Given the description of an element on the screen output the (x, y) to click on. 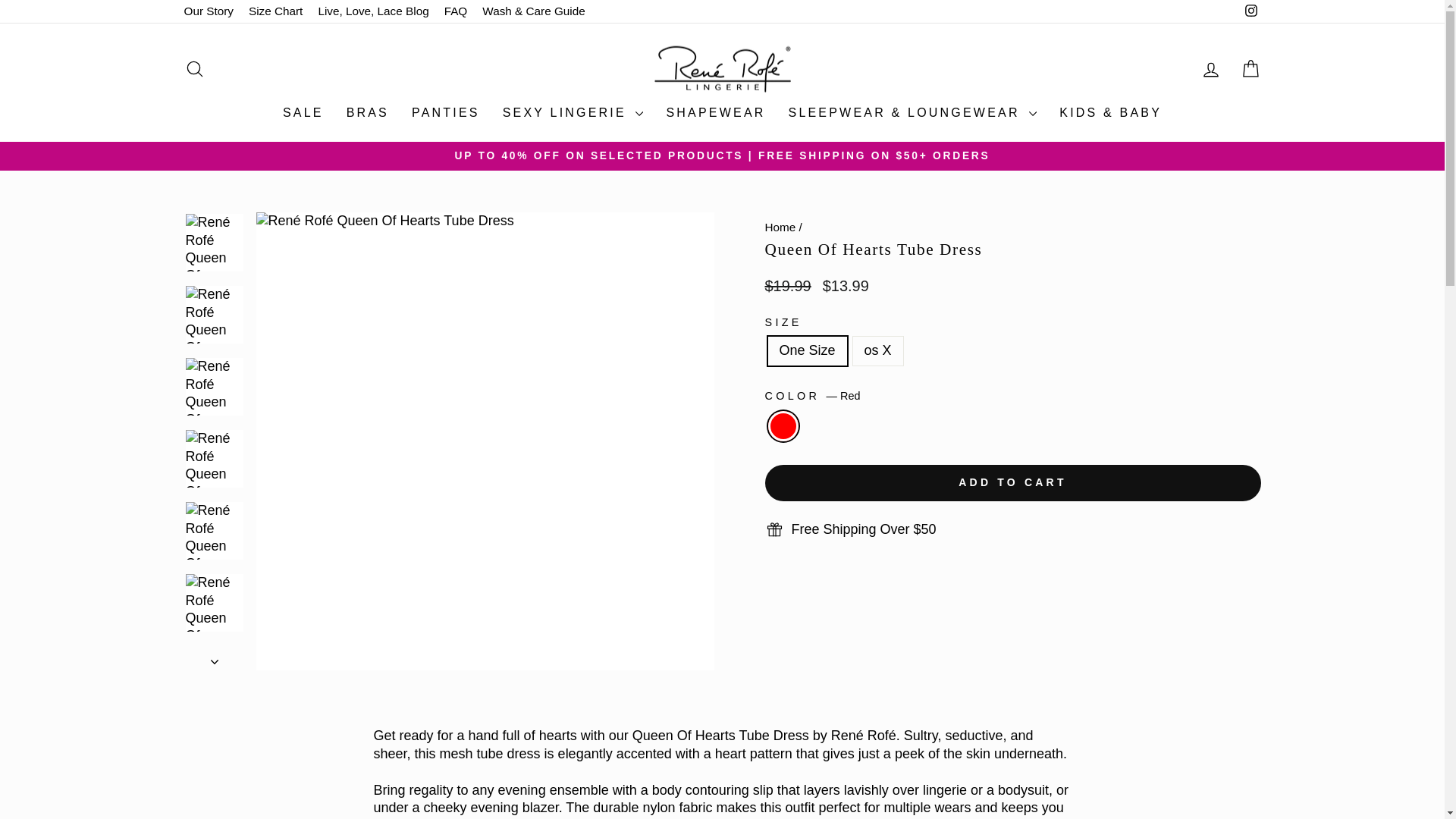
ACCOUNT (1210, 69)
instagram (1250, 10)
ICON-SEARCH (194, 68)
Back to the frontpage (779, 226)
